Given the description of an element on the screen output the (x, y) to click on. 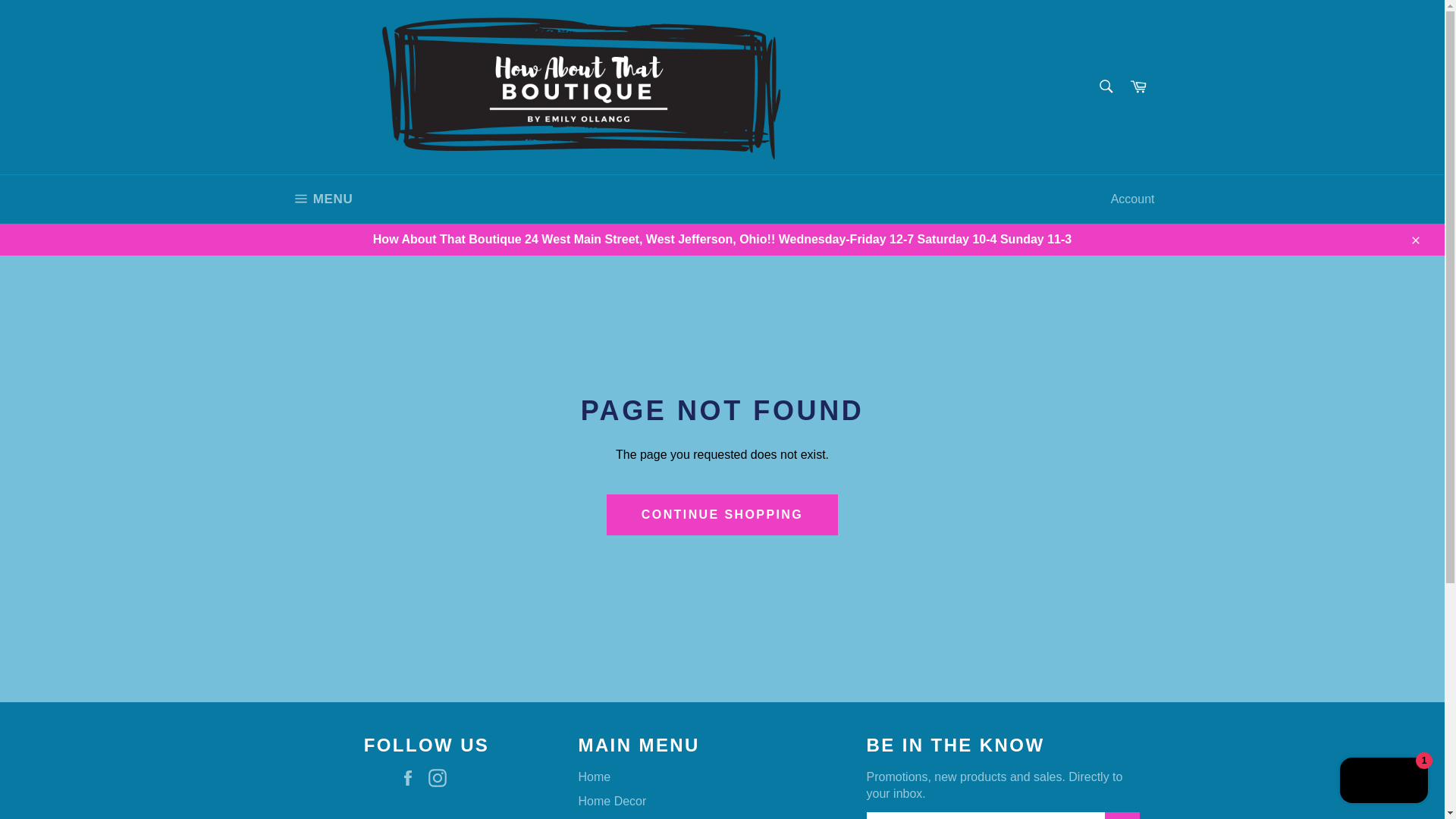
HOW ABOUT THAT BOUTIQUE BY EMILY OLLANGG on Facebook (411, 778)
Shopify online store chat (1383, 781)
Search (321, 199)
Cart (1104, 85)
HOW ABOUT THAT BOUTIQUE BY EMILY OLLANGG on Instagram (1138, 86)
